Given the description of an element on the screen output the (x, y) to click on. 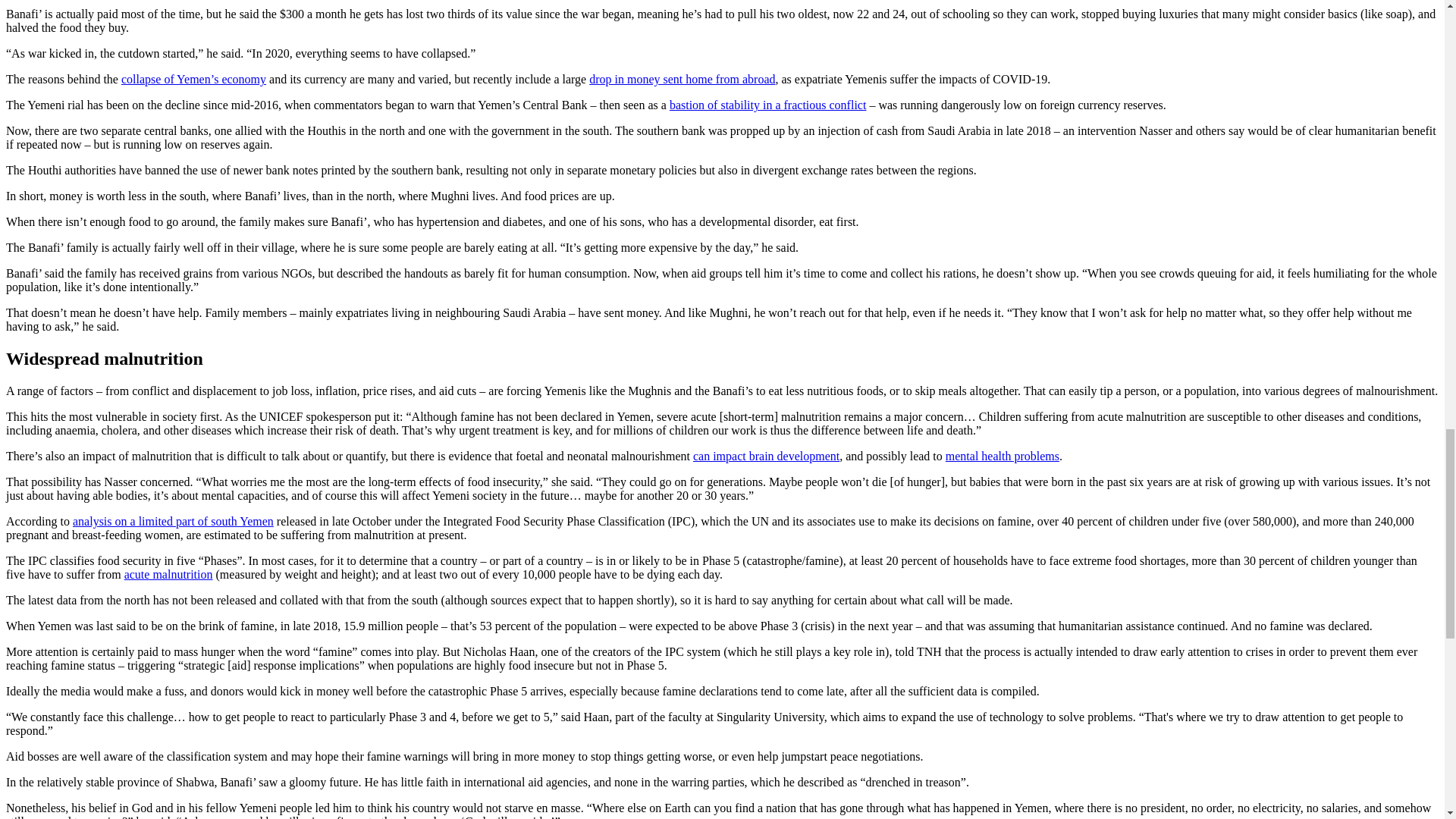
acute malnutrition (167, 574)
analysis on a limited part of south Yemen (172, 521)
mental health problems (1001, 455)
can impact brain development (766, 455)
drop in money sent home from abroad (681, 78)
bastion of stability in a fractious conflict (767, 104)
